Given the description of an element on the screen output the (x, y) to click on. 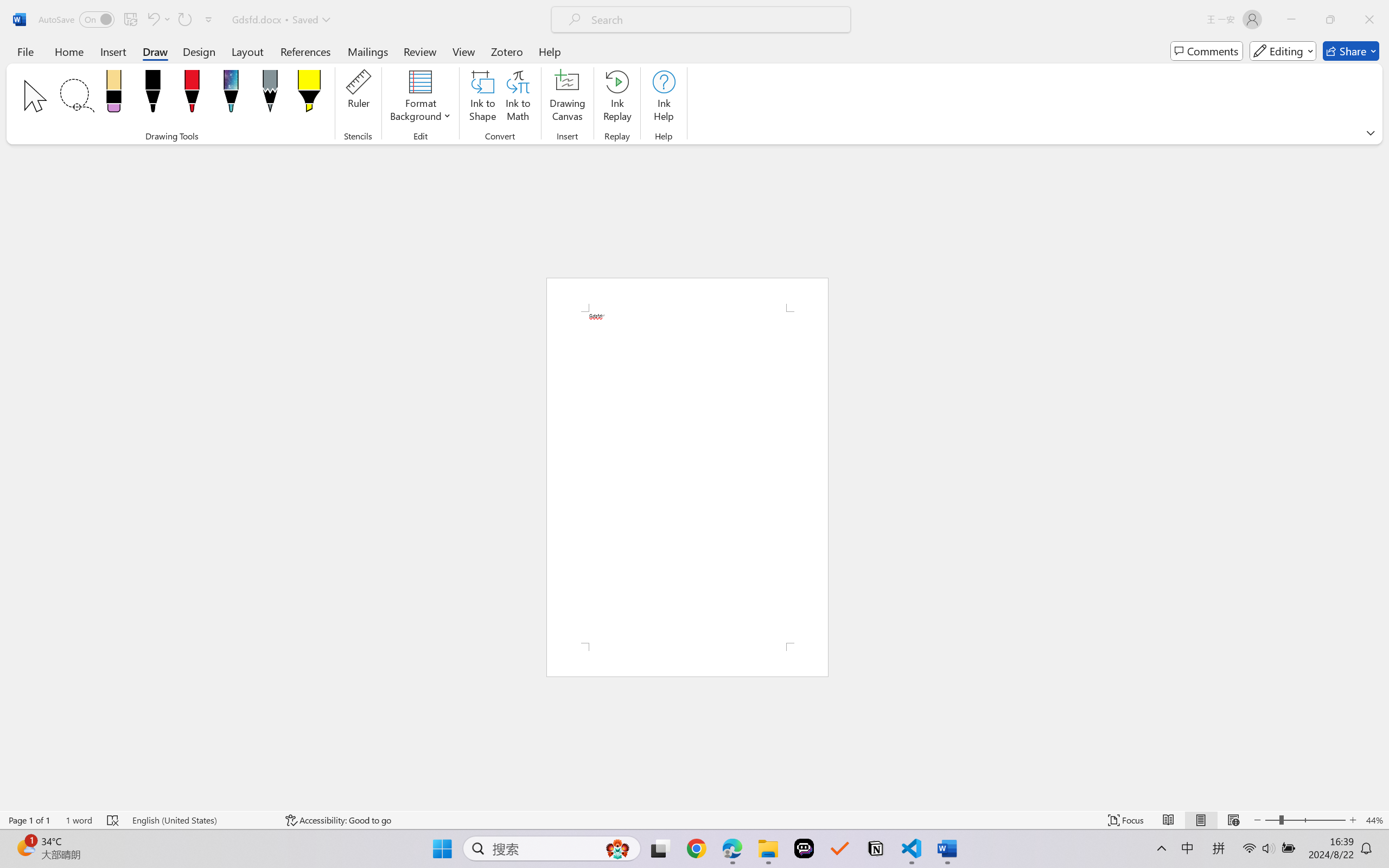
Ink Replay (617, 97)
Format Background (420, 97)
Spelling and Grammar Check Errors (113, 819)
Microsoft search (715, 19)
